Given the description of an element on the screen output the (x, y) to click on. 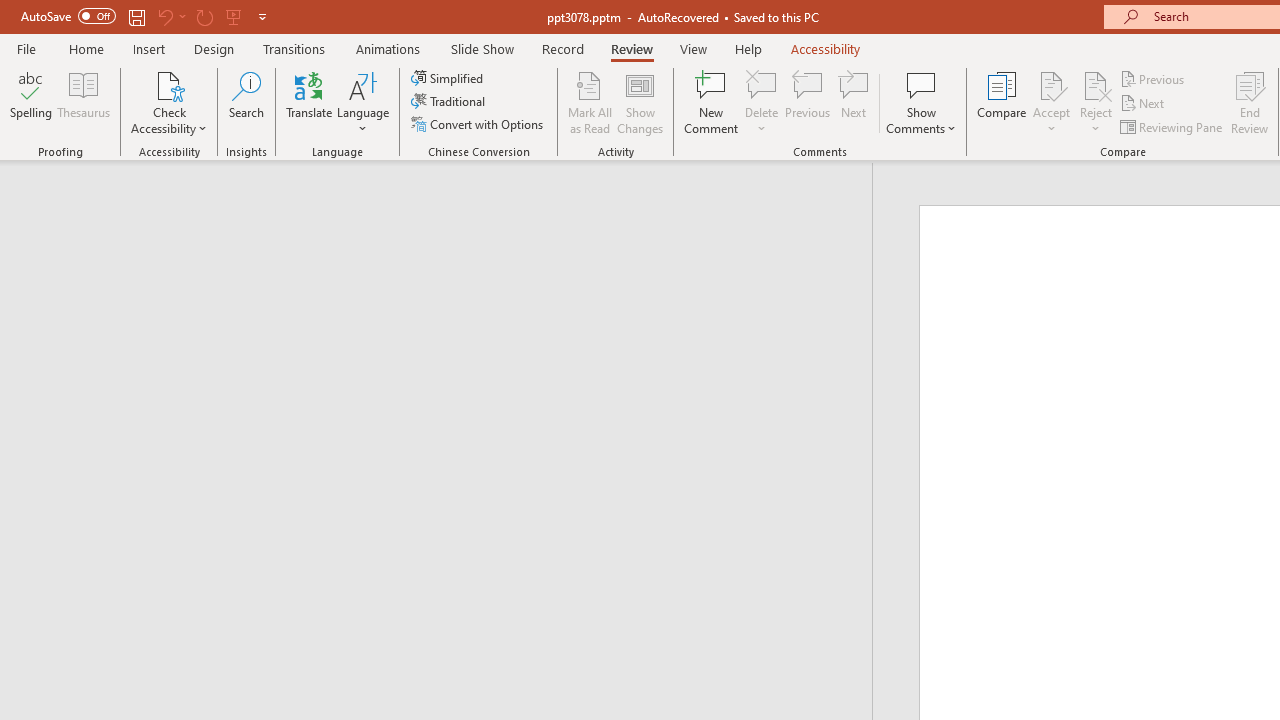
Compare (1002, 102)
New Comment (711, 102)
Show Changes (639, 102)
